Given the description of an element on the screen output the (x, y) to click on. 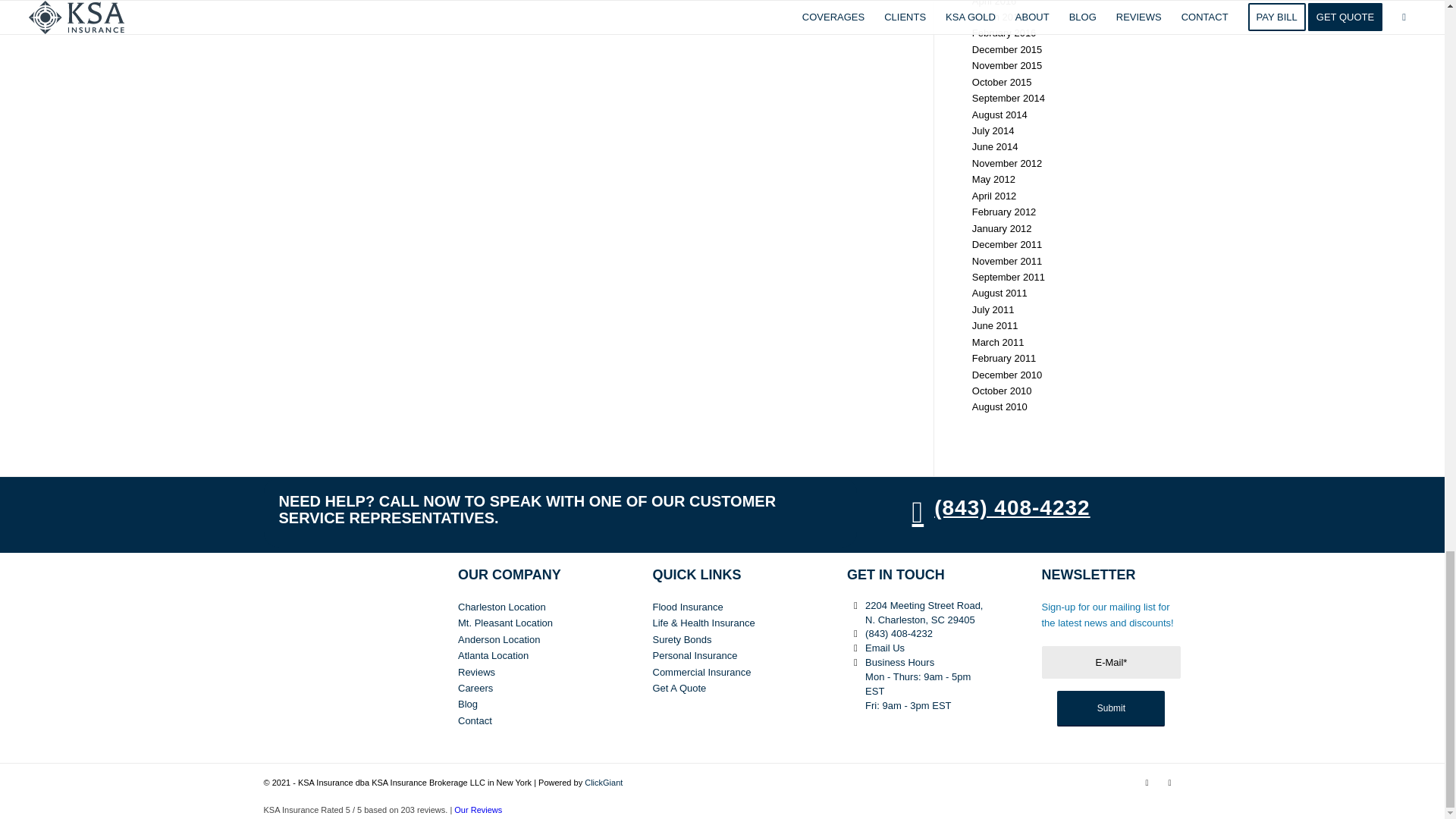
Asset 19ksa-min (333, 637)
2204 Meeting Street Road, N. Charleston, SC 29405 (855, 605)
Submit (1110, 708)
